Given the description of an element on the screen output the (x, y) to click on. 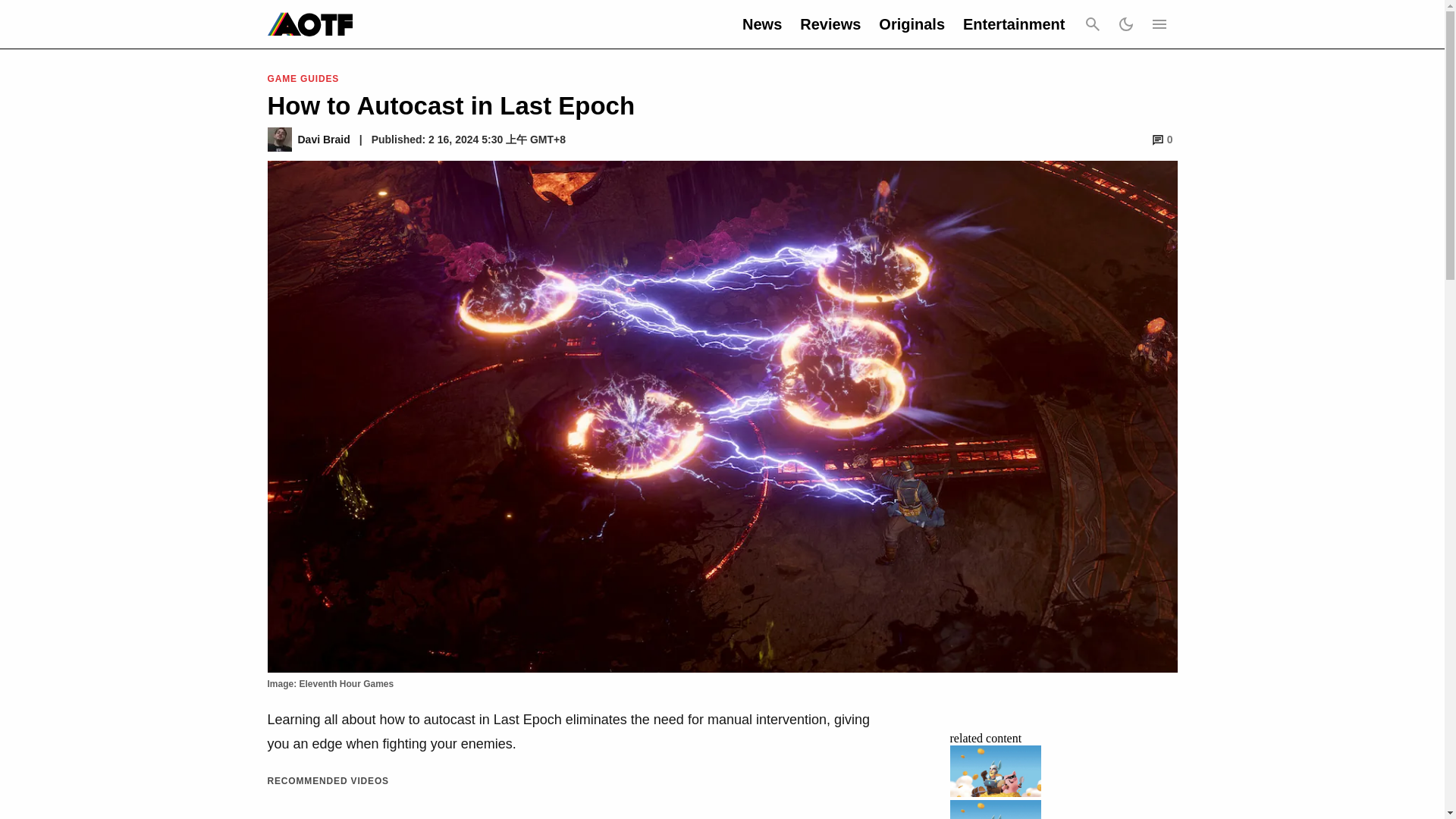
Expand Menu (1157, 24)
Originals (911, 23)
News (761, 23)
Search (1091, 24)
Dark Mode (1124, 24)
Reviews (829, 23)
Entertainment (1013, 23)
